Given the description of an element on the screen output the (x, y) to click on. 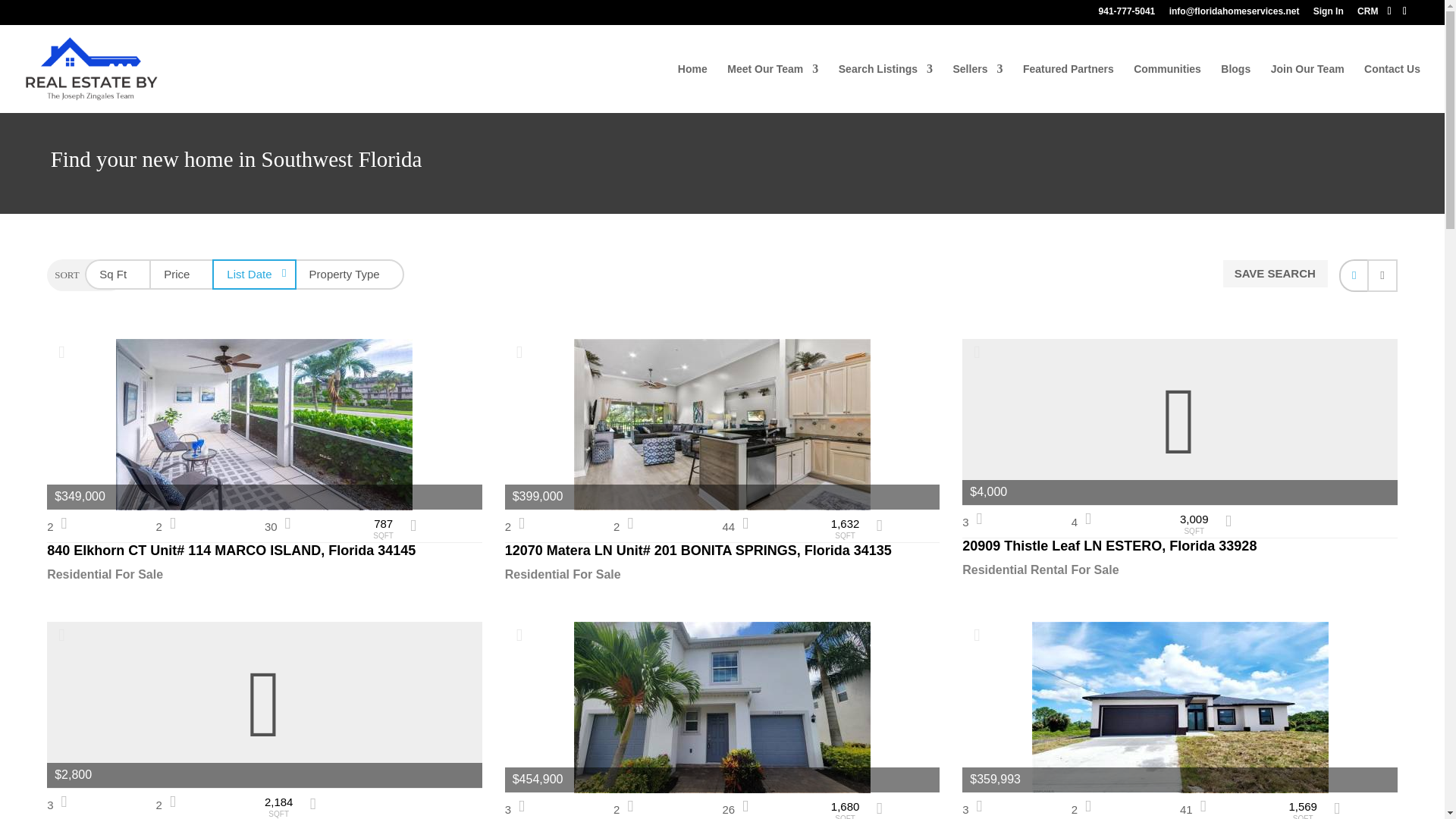
Residential For Sale (263, 574)
Search Listings (885, 88)
Residential Rental For Sale (1179, 570)
Meet Our Team (772, 88)
Communities (1167, 88)
Residential For Sale (722, 574)
Sellers (977, 88)
SAVE SEARCH (1275, 272)
Residential Rental For Sale (1179, 570)
Residential For Sale (722, 574)
Sign In (1328, 14)
Featured Partners (1068, 88)
Join Our Team (1307, 88)
CRM (1366, 14)
Residential For Sale (263, 574)
